Given the description of an element on the screen output the (x, y) to click on. 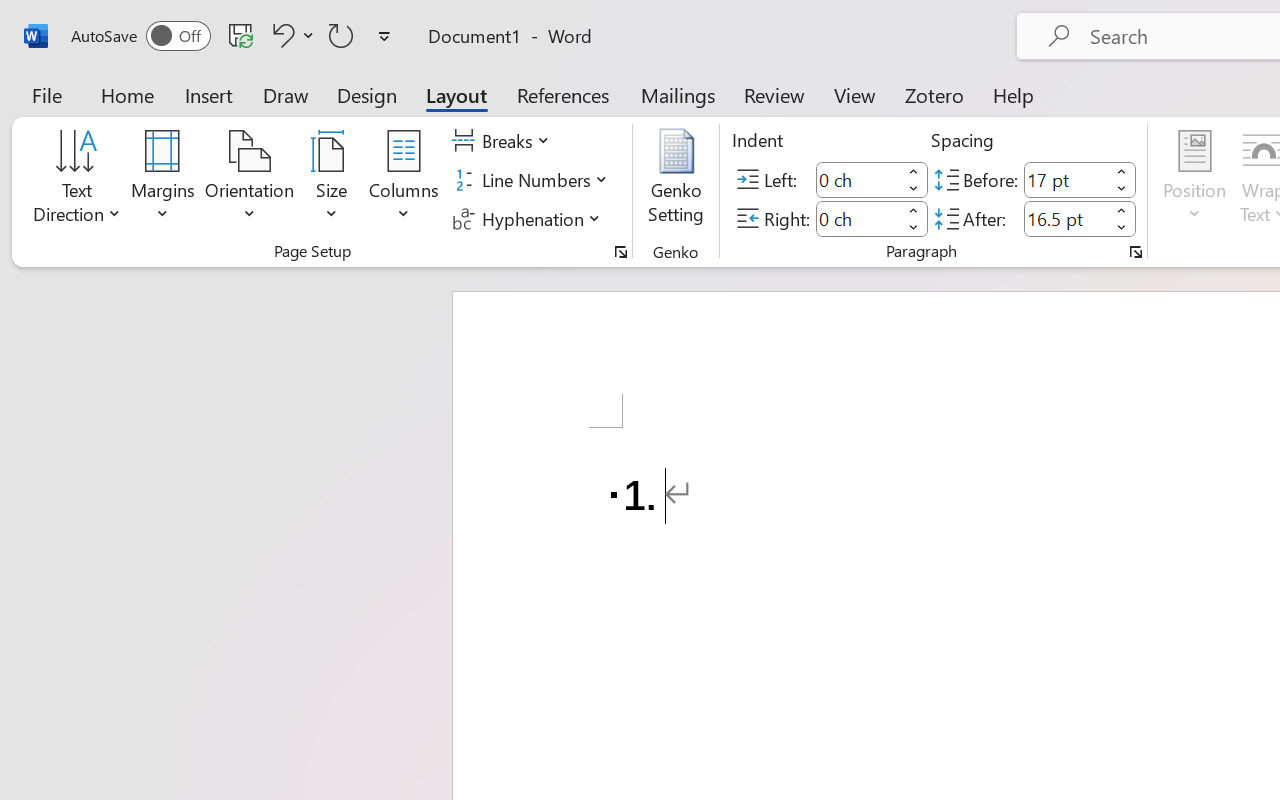
Margins (163, 179)
Position (1194, 179)
Indent Right (858, 218)
Orientation (250, 179)
Breaks (504, 141)
Columns (404, 179)
Hyphenation (529, 218)
